Given the description of an element on the screen output the (x, y) to click on. 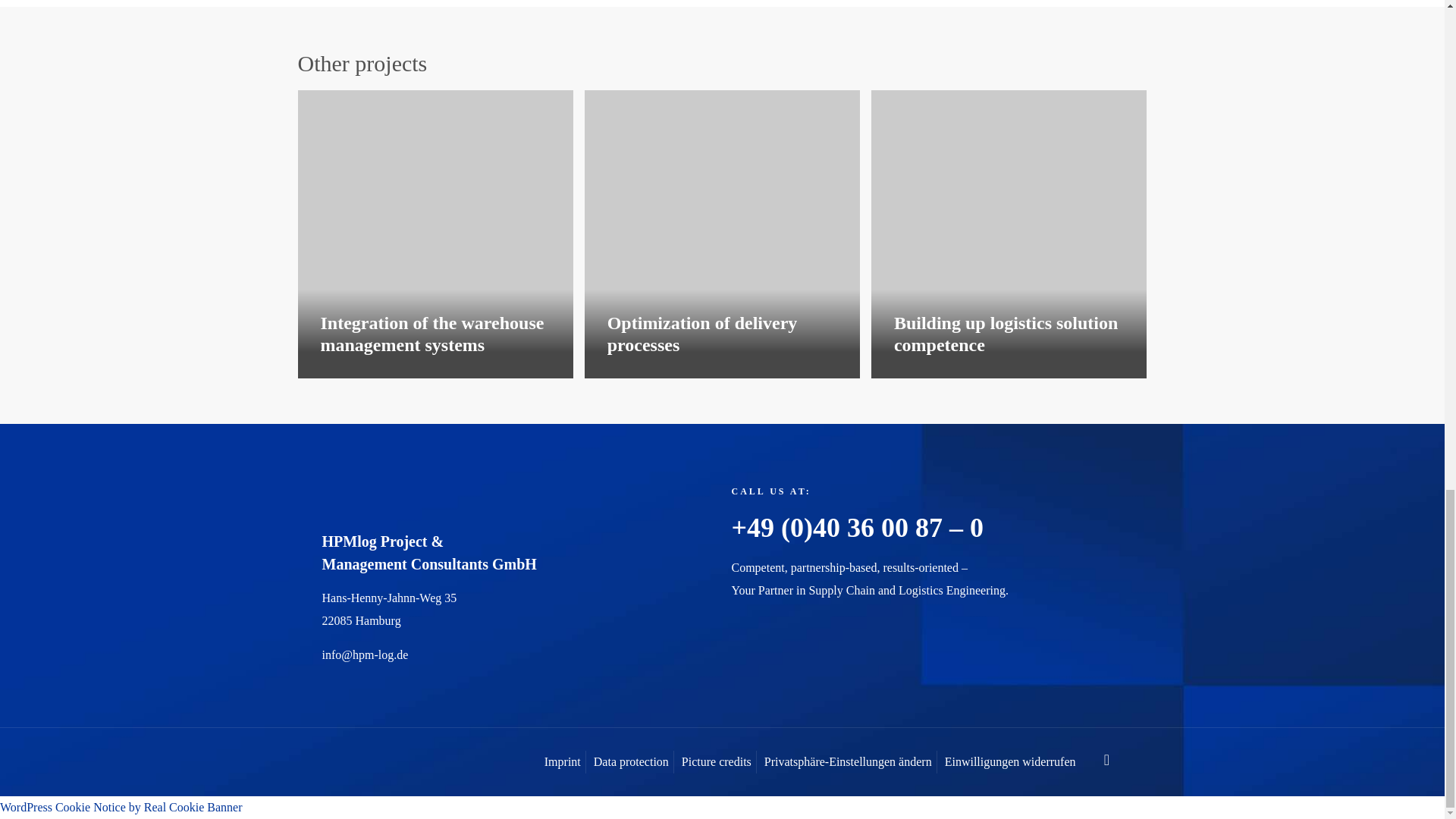
Optimization of delivery processes (717, 230)
Building up logistics solution competence (1005, 333)
Integration of the warehouse management systems (431, 333)
Building up logistics solution competence (1003, 230)
Optimization of delivery processes (702, 333)
Integration of the warehouse management systems (431, 230)
Integration of the warehouse management systems (431, 333)
